Given the description of an element on the screen output the (x, y) to click on. 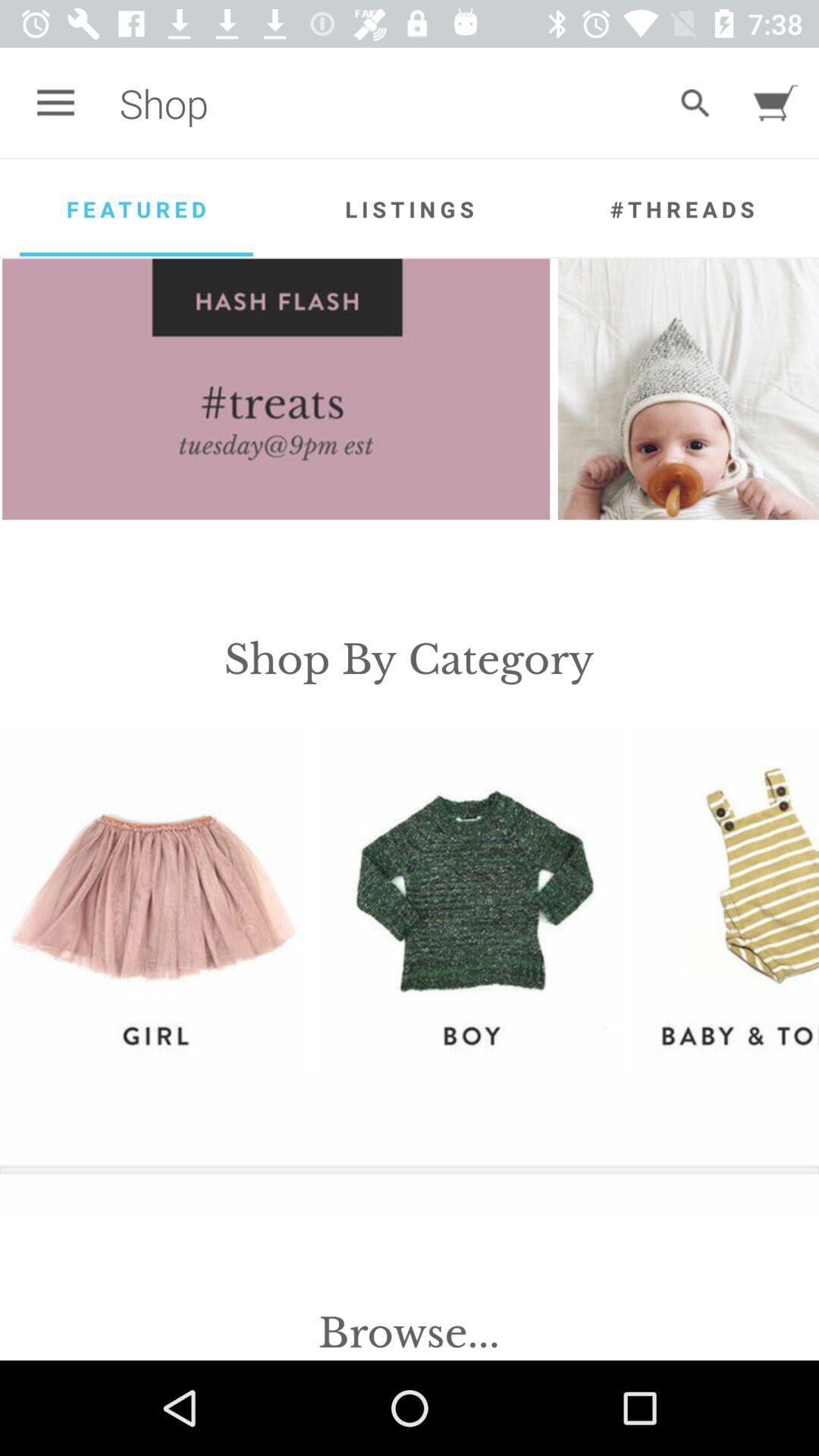
click on second icon which is top right corner (776, 103)
select search icon (695, 103)
choose the option baby  to (727, 900)
select the threads option (682, 208)
